Given the description of an element on the screen output the (x, y) to click on. 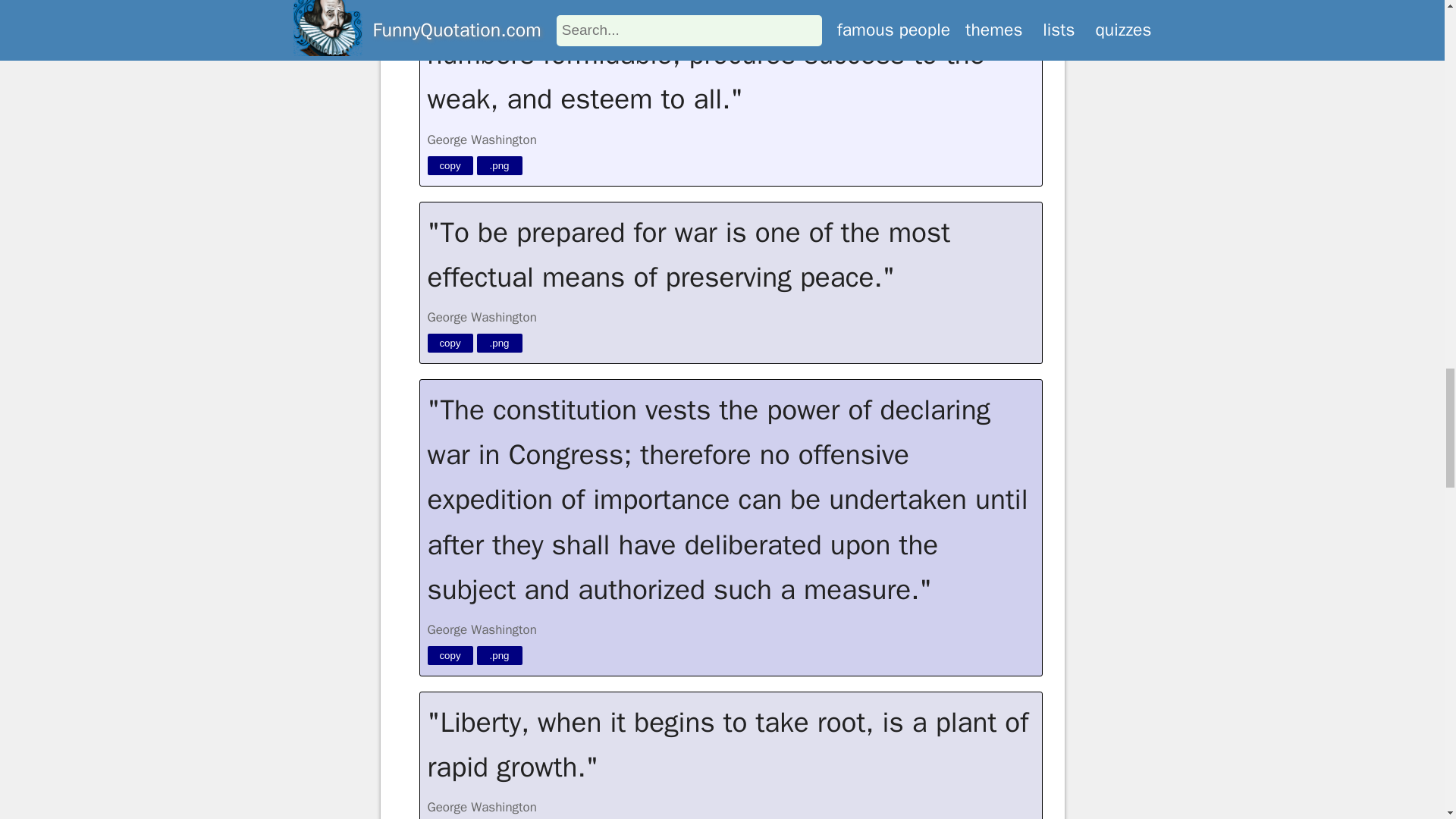
.png (498, 342)
copy (450, 655)
.png (498, 655)
copy (450, 165)
copy (450, 342)
.png (498, 165)
